Given the description of an element on the screen output the (x, y) to click on. 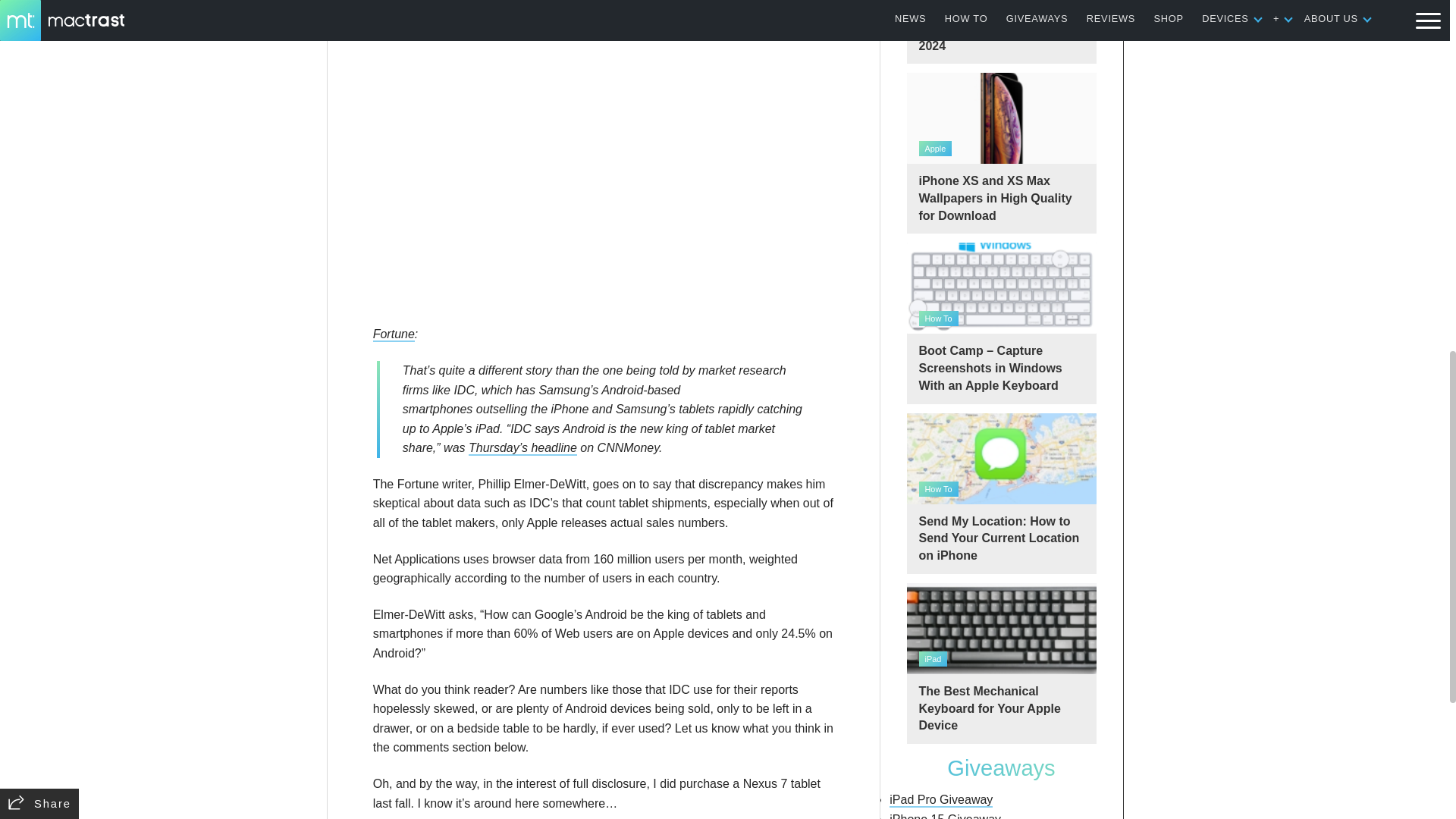
iPhone XS and XS Max Wallpapers in High Quality for Download (1001, 152)
Apple TV Screensavers and Their Locations Identified 2024 (1001, 31)
